Given the description of an element on the screen output the (x, y) to click on. 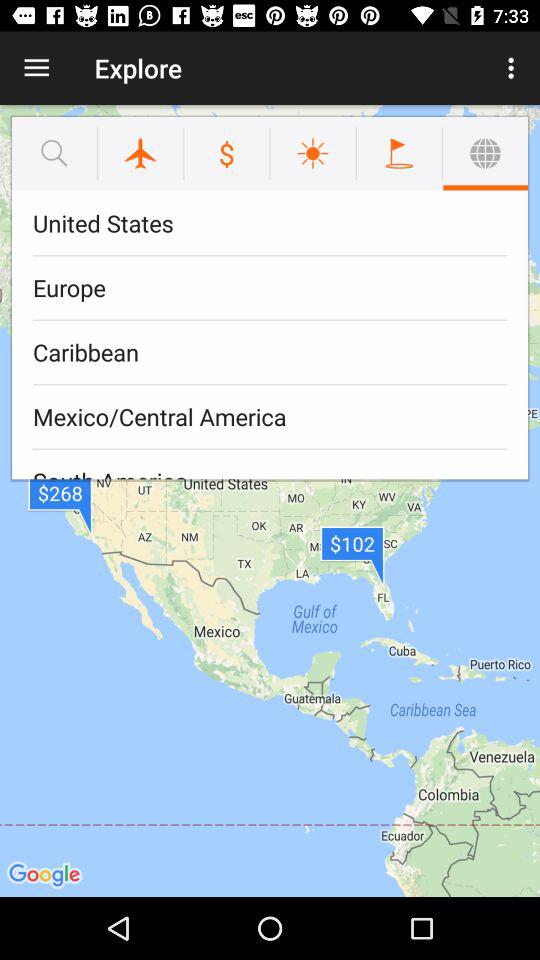
press mexico/central america item (270, 416)
